Given the description of an element on the screen output the (x, y) to click on. 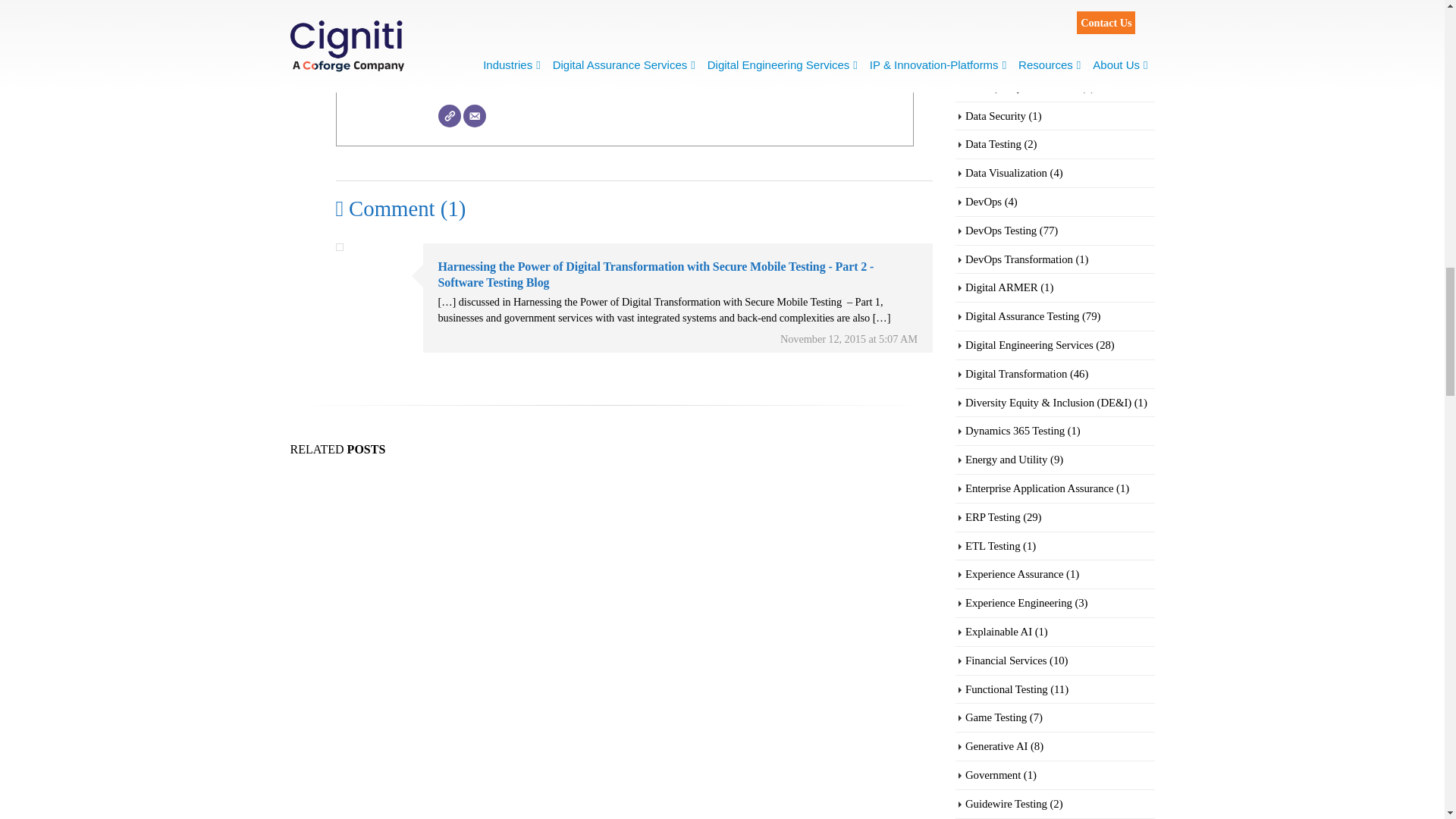
Cigniti Technologies (497, 3)
